Given the description of an element on the screen output the (x, y) to click on. 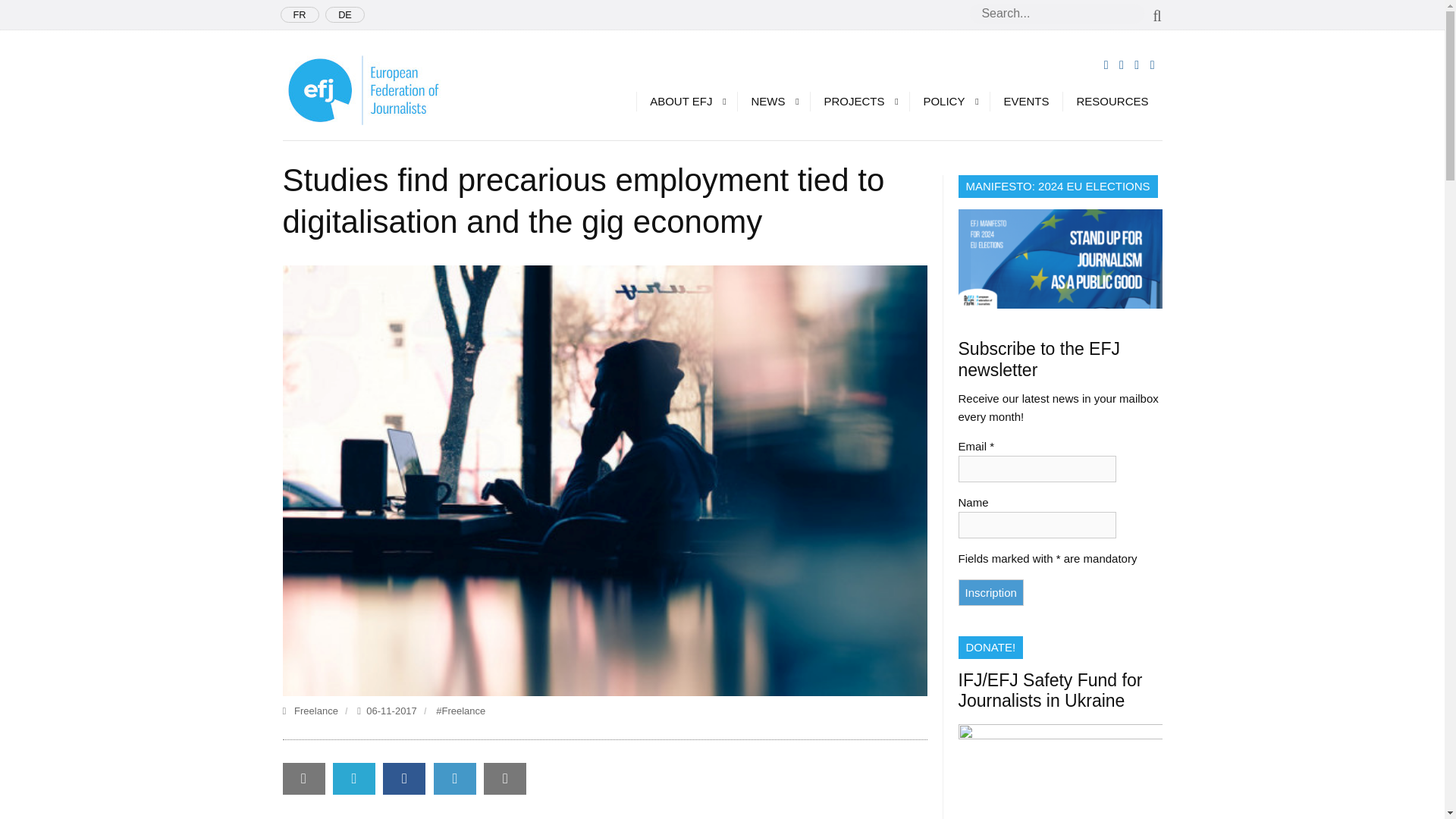
Share on LinkedIn (454, 777)
ABOUT EFJ (686, 100)
FR (299, 14)
PROJECTS (858, 100)
POLICY (949, 100)
Print this page (504, 777)
Inscription (990, 592)
DE (344, 14)
Share by e-mail (303, 777)
NEWS (772, 100)
